Given the description of an element on the screen output the (x, y) to click on. 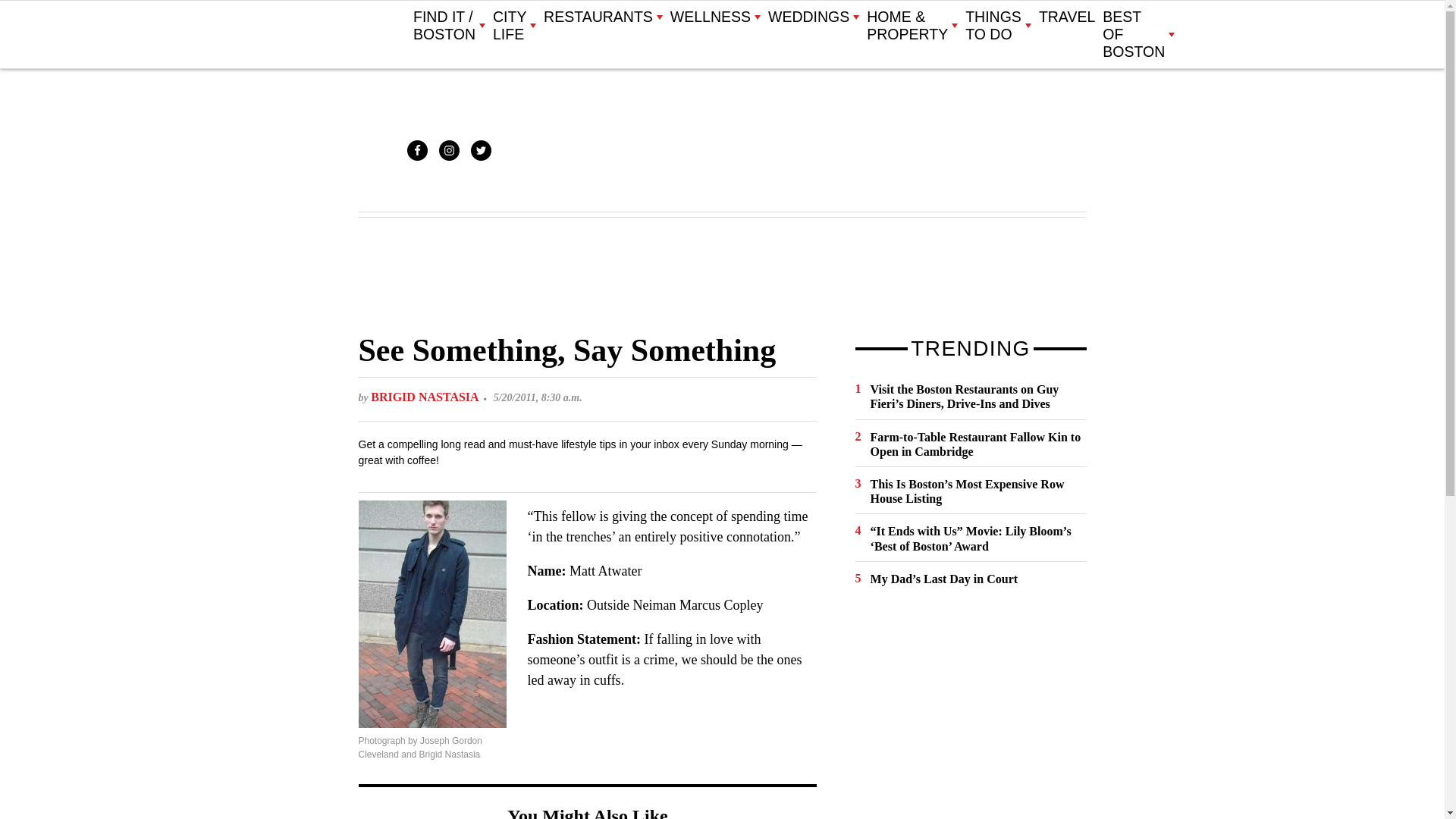
WEDDINGS (813, 16)
THINGS TO DO (997, 25)
WELLNESS (714, 16)
RESTAURANTS (602, 16)
